Given the description of an element on the screen output the (x, y) to click on. 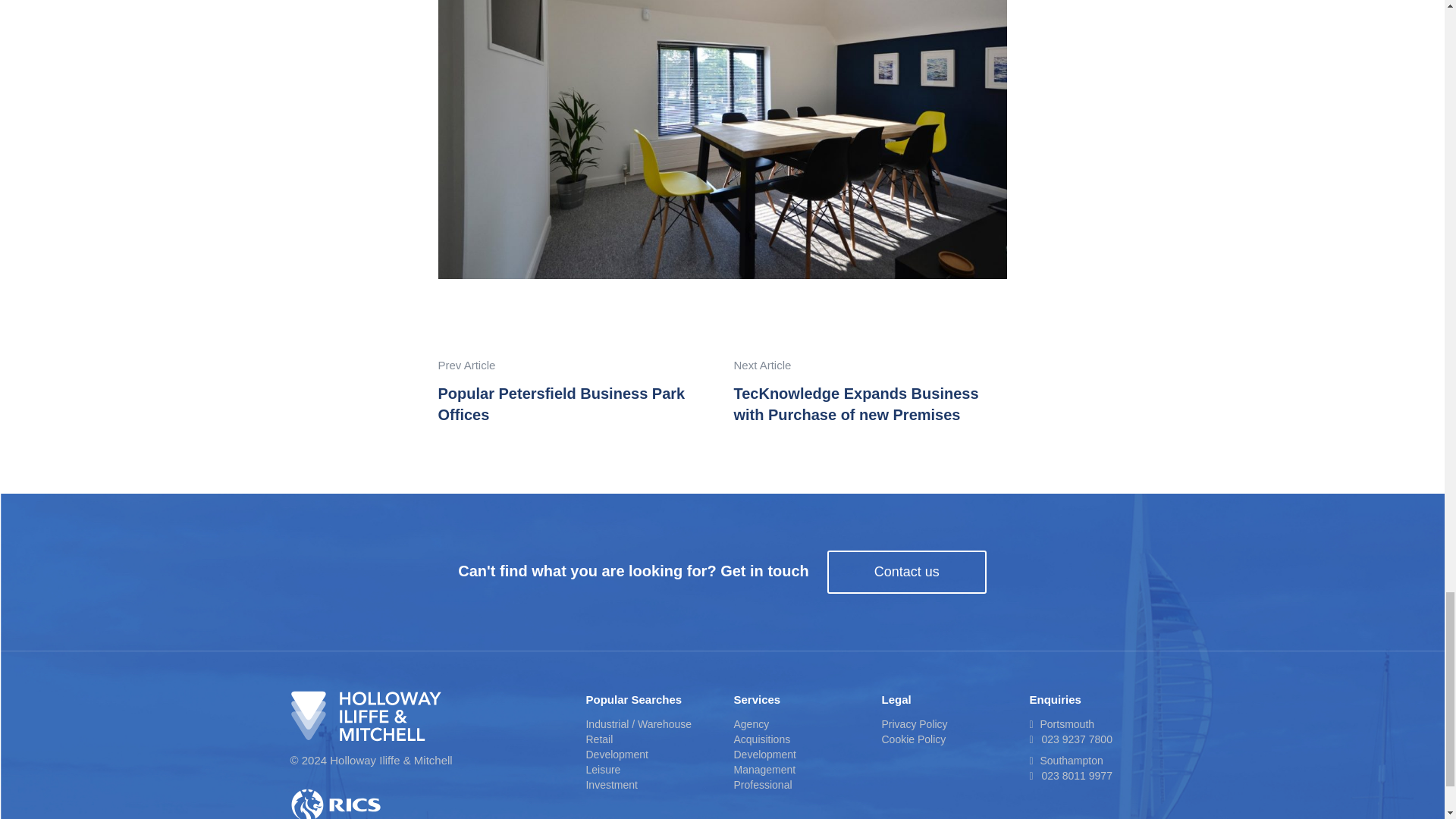
Southampton (1065, 760)
Retail (598, 739)
Cookie Policy (912, 739)
Development (616, 754)
Portsmouth (1061, 724)
Visit Royal Institute of Chartered Surveyors website (425, 802)
Take me to the homepage (425, 715)
Development (764, 754)
Privacy Policy (913, 724)
Leisure (602, 769)
